Given the description of an element on the screen output the (x, y) to click on. 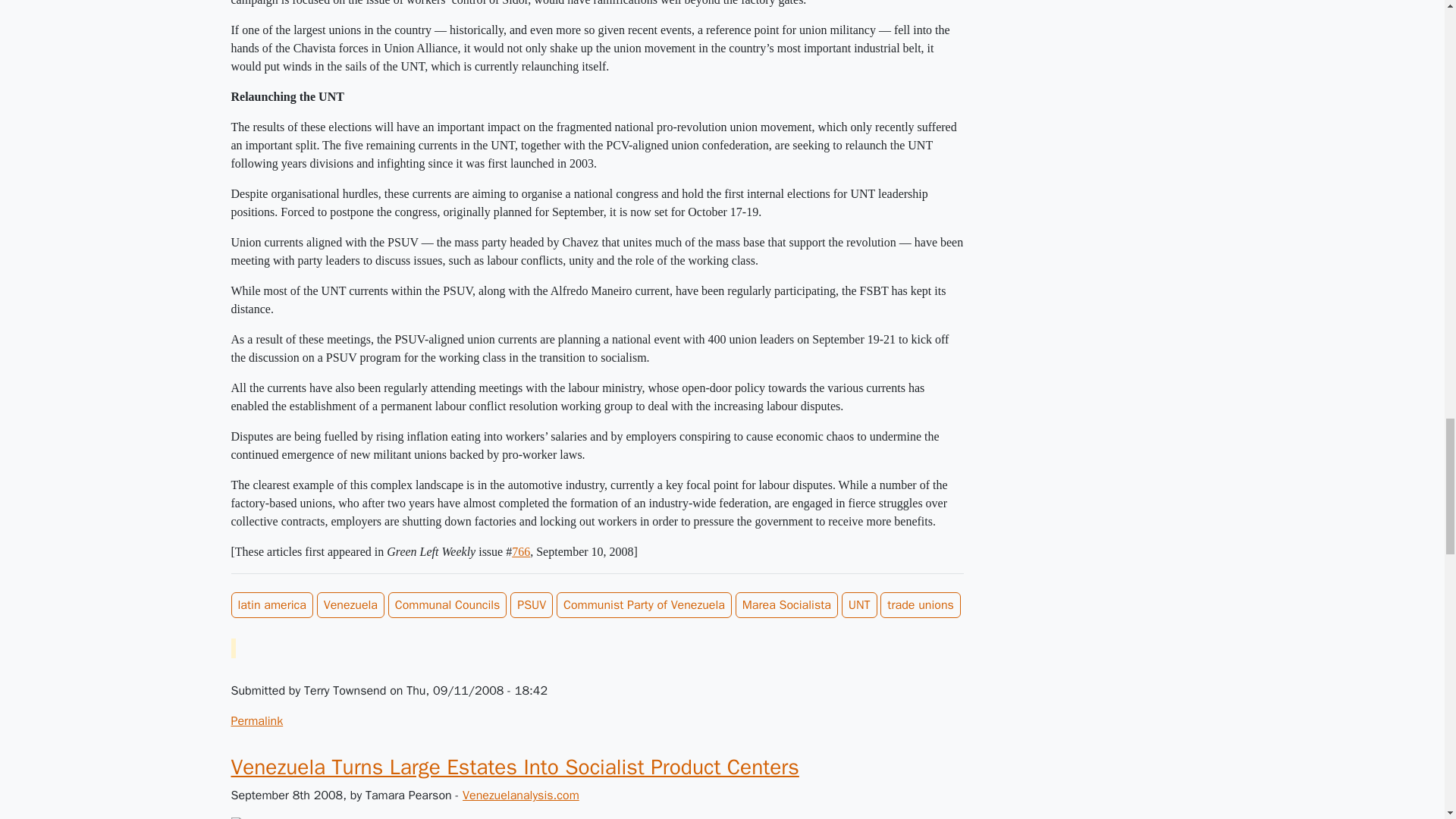
PSUV (532, 605)
latin america (271, 605)
trade unions (920, 605)
Venezuela Turns Large Estates Into Socialist Product Centers (513, 766)
UNT (859, 605)
Communist Party of Venezuela (644, 605)
Venezuela (350, 605)
Marea Socialista (786, 605)
766 (520, 551)
Venezuelanalysis.com (521, 795)
Permalink (256, 720)
Communal Councils (447, 605)
